Given the description of an element on the screen output the (x, y) to click on. 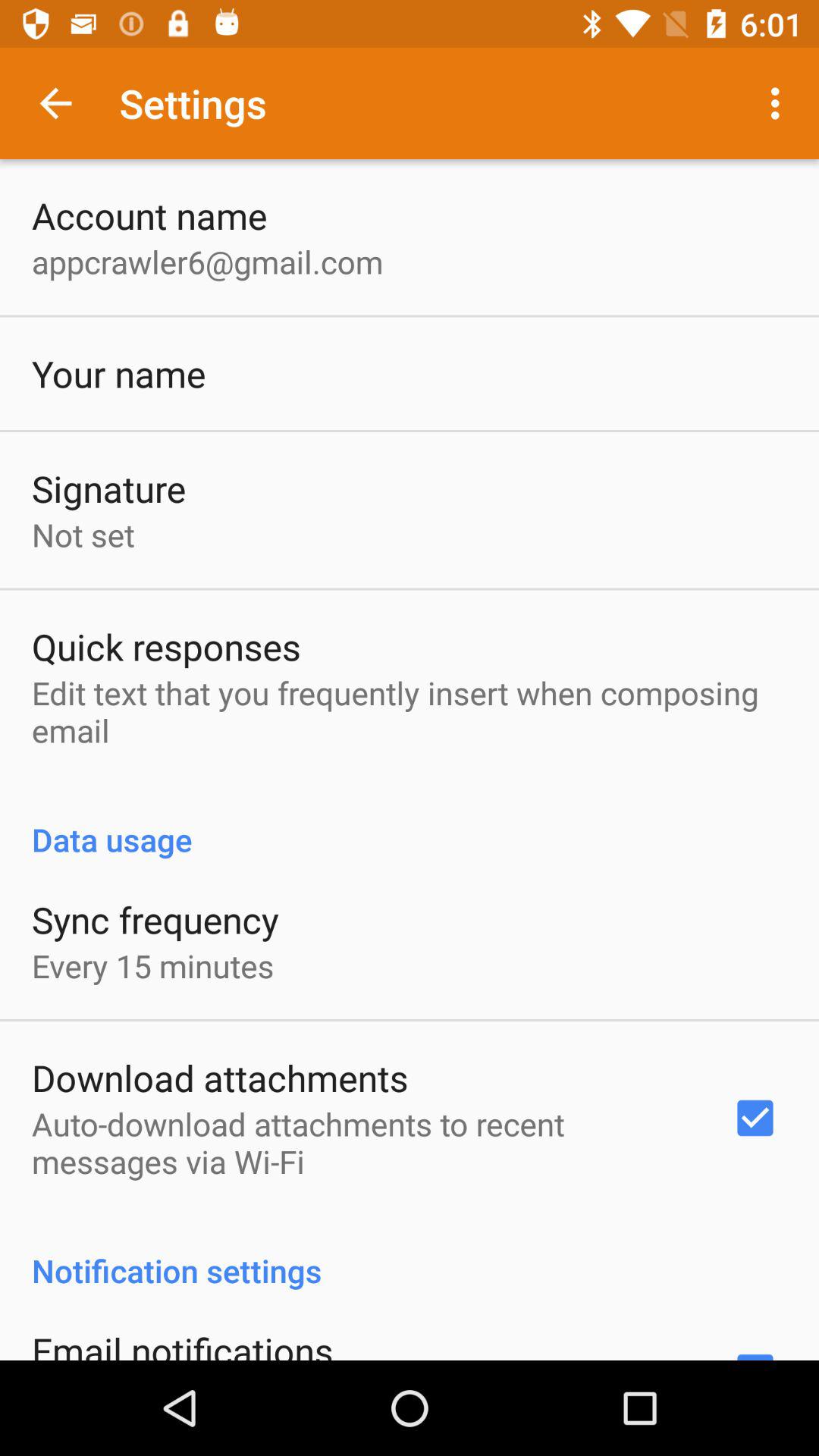
swipe until not set app (82, 534)
